Given the description of an element on the screen output the (x, y) to click on. 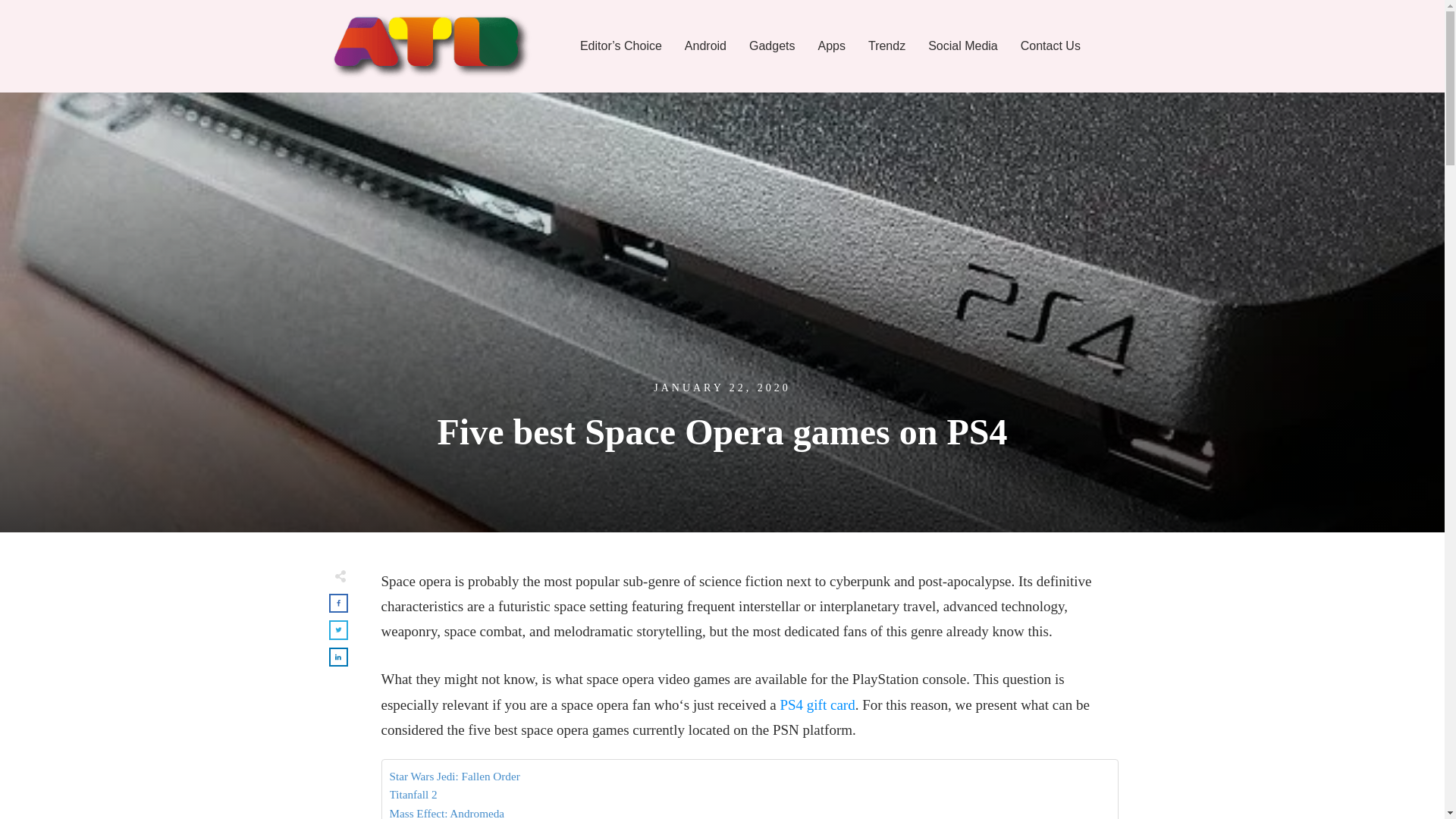
Gadgets (771, 46)
Apps (830, 46)
Contact Us (1050, 46)
PS4 gift card (816, 704)
Mass Effect: Andromeda (447, 811)
Titanfall 2 (414, 794)
Star Wars Jedi: Fallen Order (454, 776)
Mass Effect: Andromeda (447, 811)
Social Media (962, 46)
Android (705, 46)
